Given the description of an element on the screen output the (x, y) to click on. 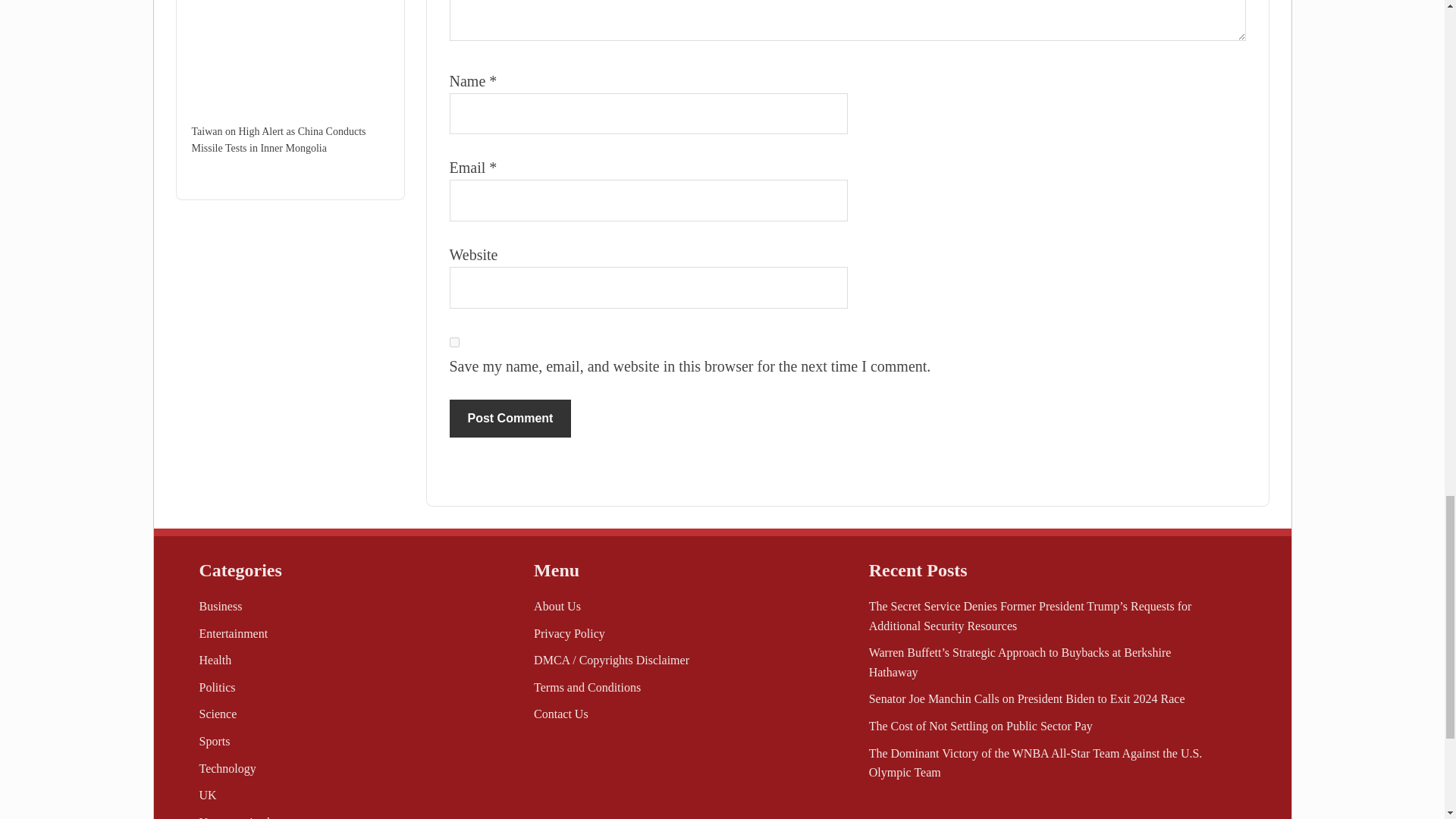
yes (453, 342)
Post Comment (509, 418)
